Given the description of an element on the screen output the (x, y) to click on. 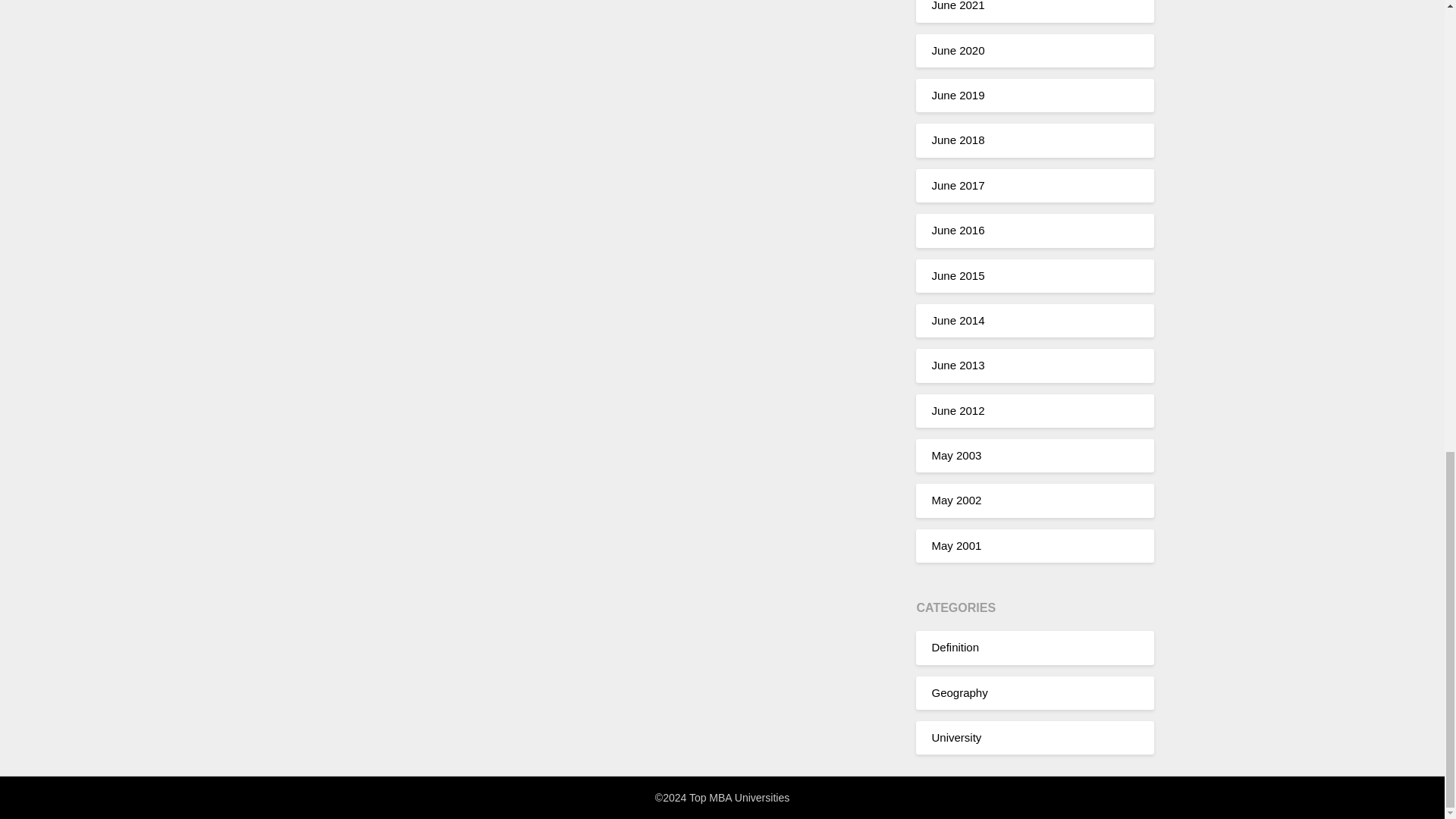
Definition (954, 646)
Geography (959, 691)
June 2014 (957, 319)
June 2019 (957, 94)
University (956, 737)
June 2021 (957, 5)
June 2012 (957, 410)
June 2016 (957, 229)
May 2002 (956, 499)
June 2018 (957, 139)
